Given the description of an element on the screen output the (x, y) to click on. 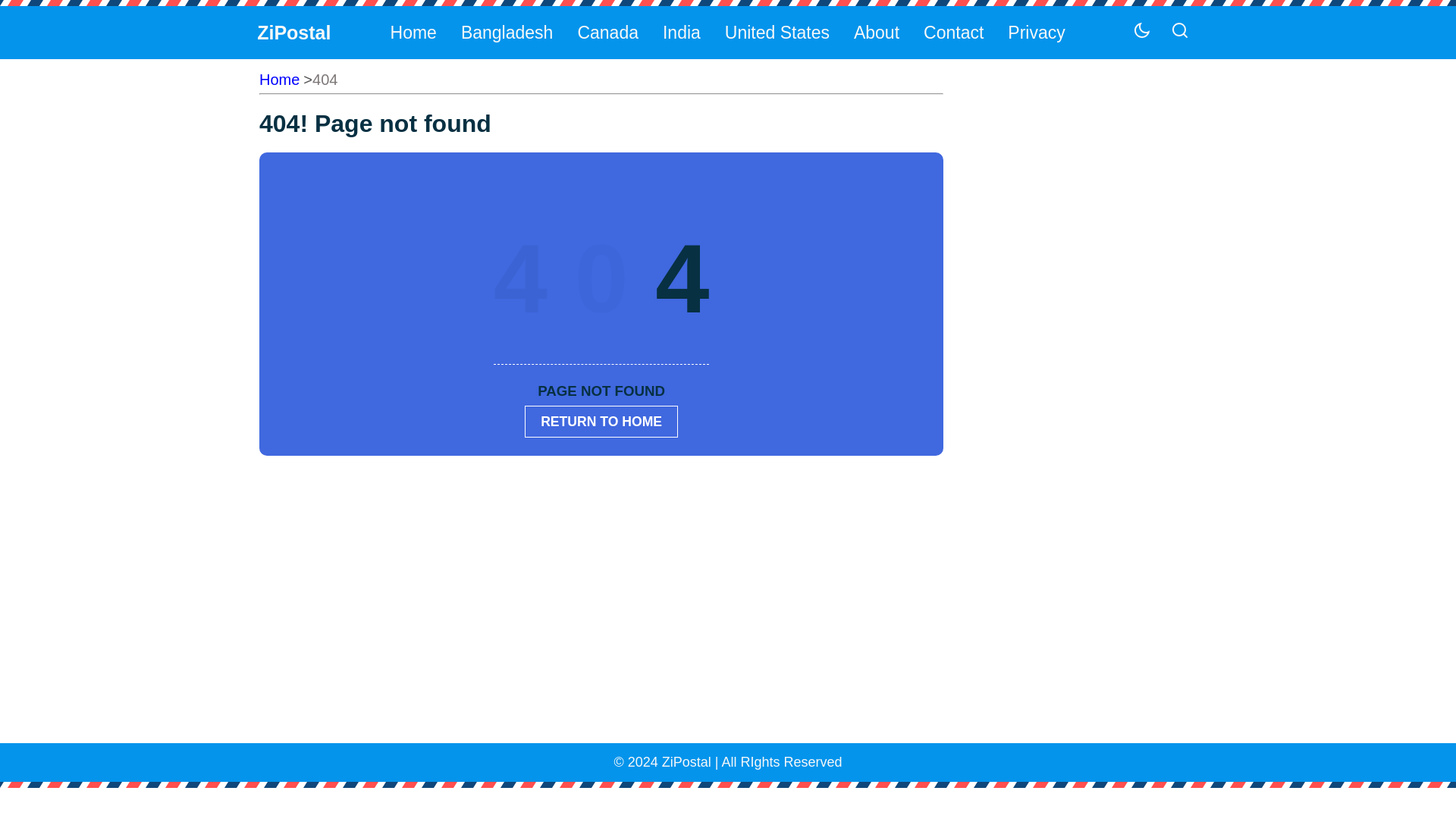
ZiPostal (293, 31)
RETURN TO HOME (601, 420)
Contact (952, 32)
United States (776, 32)
Canada (606, 32)
Bangladesh (505, 32)
India (680, 32)
Home (412, 32)
Home (279, 79)
Privacy (1034, 32)
